Given the description of an element on the screen output the (x, y) to click on. 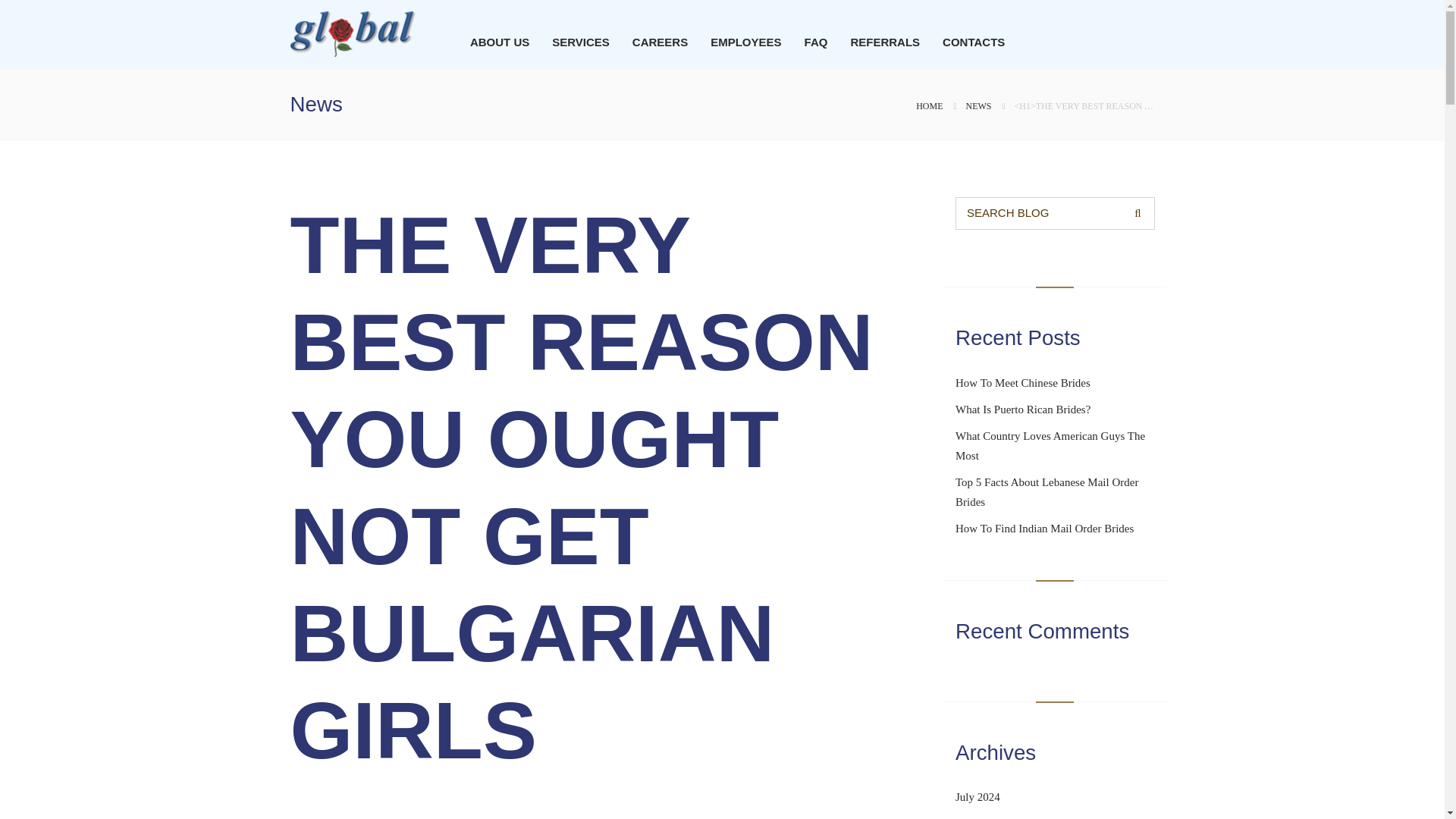
What Country Loves American Guys The Most (1049, 445)
What Is Puerto Rican Brides? (1022, 409)
June 2024 (978, 818)
EMPLOYEES (746, 42)
July 2024 (977, 797)
How To Find Indian Mail Order Brides (1044, 528)
CAREERS (659, 42)
REFERRALS (885, 42)
SERVICES (580, 42)
ABOUT US (500, 42)
Top 5 Facts About Lebanese Mail Order Brides (1046, 490)
HOME (928, 105)
FAQ (815, 42)
NEWS (978, 105)
How To Meet Chinese Brides (1022, 382)
